Given the description of an element on the screen output the (x, y) to click on. 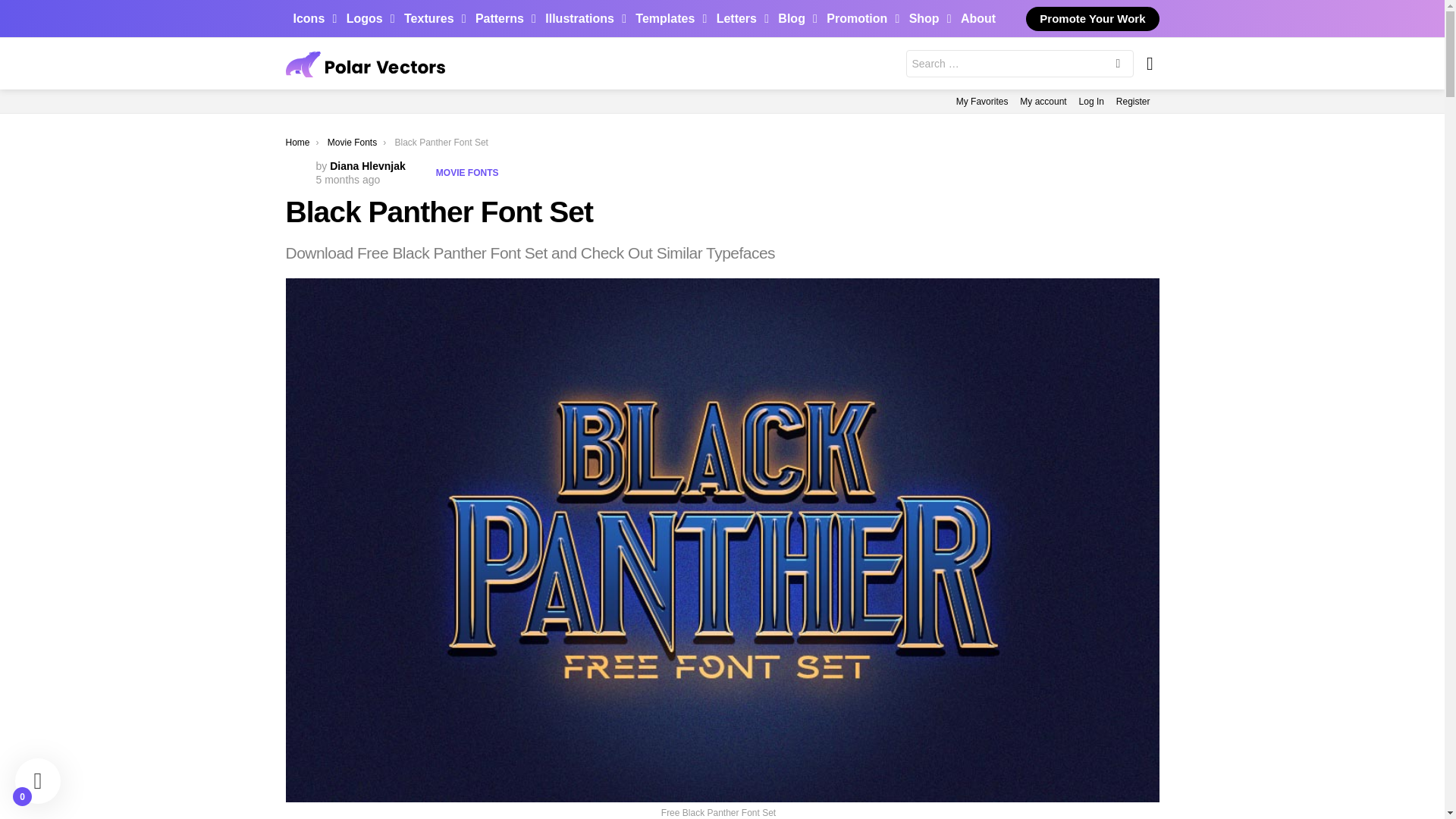
Icons (310, 18)
Textures (430, 18)
Logos (366, 18)
Blog (793, 18)
Promotion (858, 18)
February 14, 2024, 5:26 pm (347, 179)
Illustrations (581, 18)
Search for: (1018, 62)
Posts by Diana Hlevnjak (368, 165)
Templates (666, 18)
Letters (738, 18)
Patterns (501, 18)
